Given the description of an element on the screen output the (x, y) to click on. 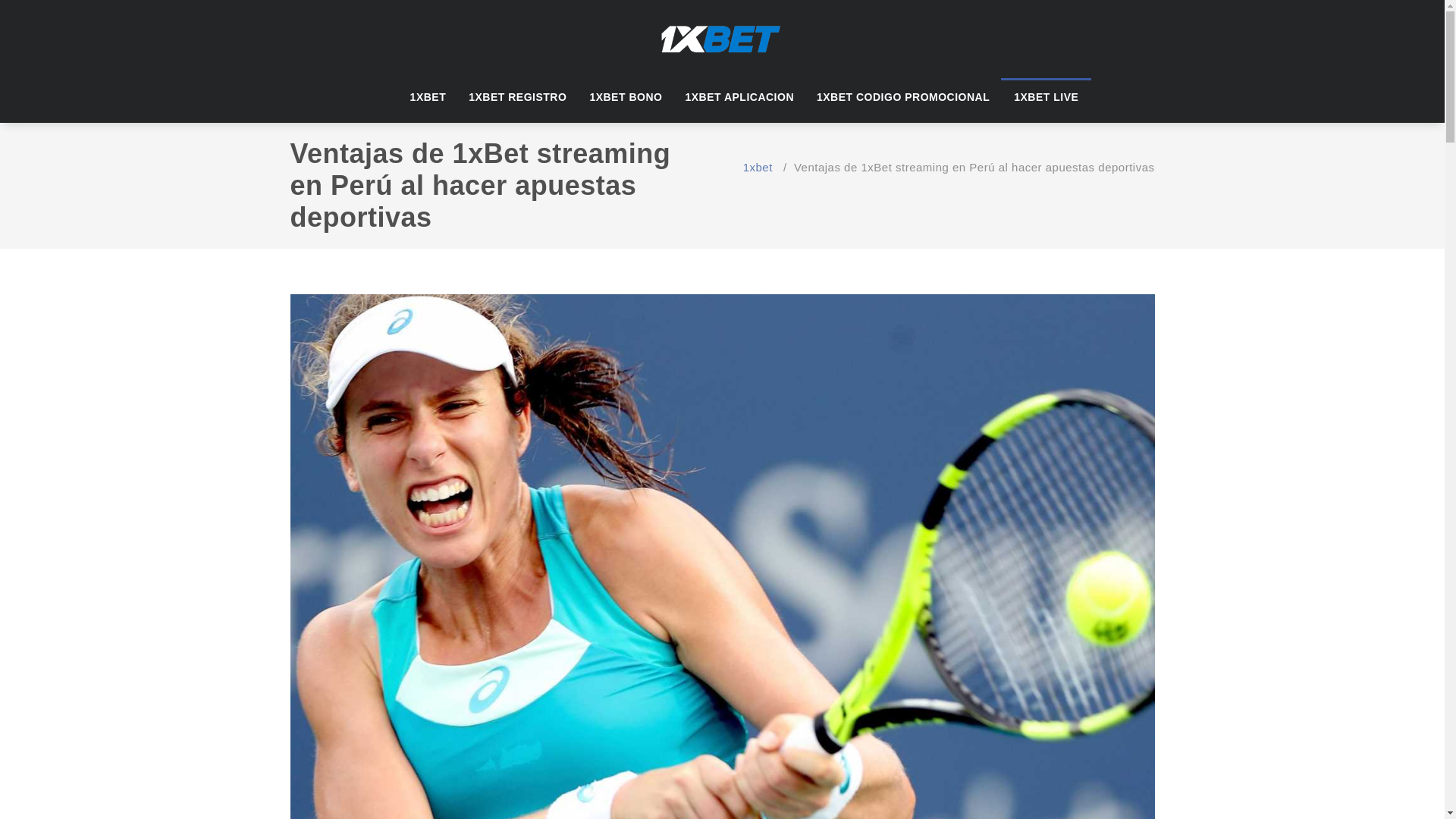
1XBET Element type: text (428, 97)
Ir al contenido Element type: text (0, 0)
1XBET BONO Element type: text (625, 97)
1XBET APLICACION Element type: text (739, 97)
1xbet Element type: text (757, 166)
1XBET LIVE Element type: text (1046, 95)
1XBET CODIGO PROMOCIONAL Element type: text (903, 97)
1XBET REGISTRO Element type: text (517, 97)
